Given the description of an element on the screen output the (x, y) to click on. 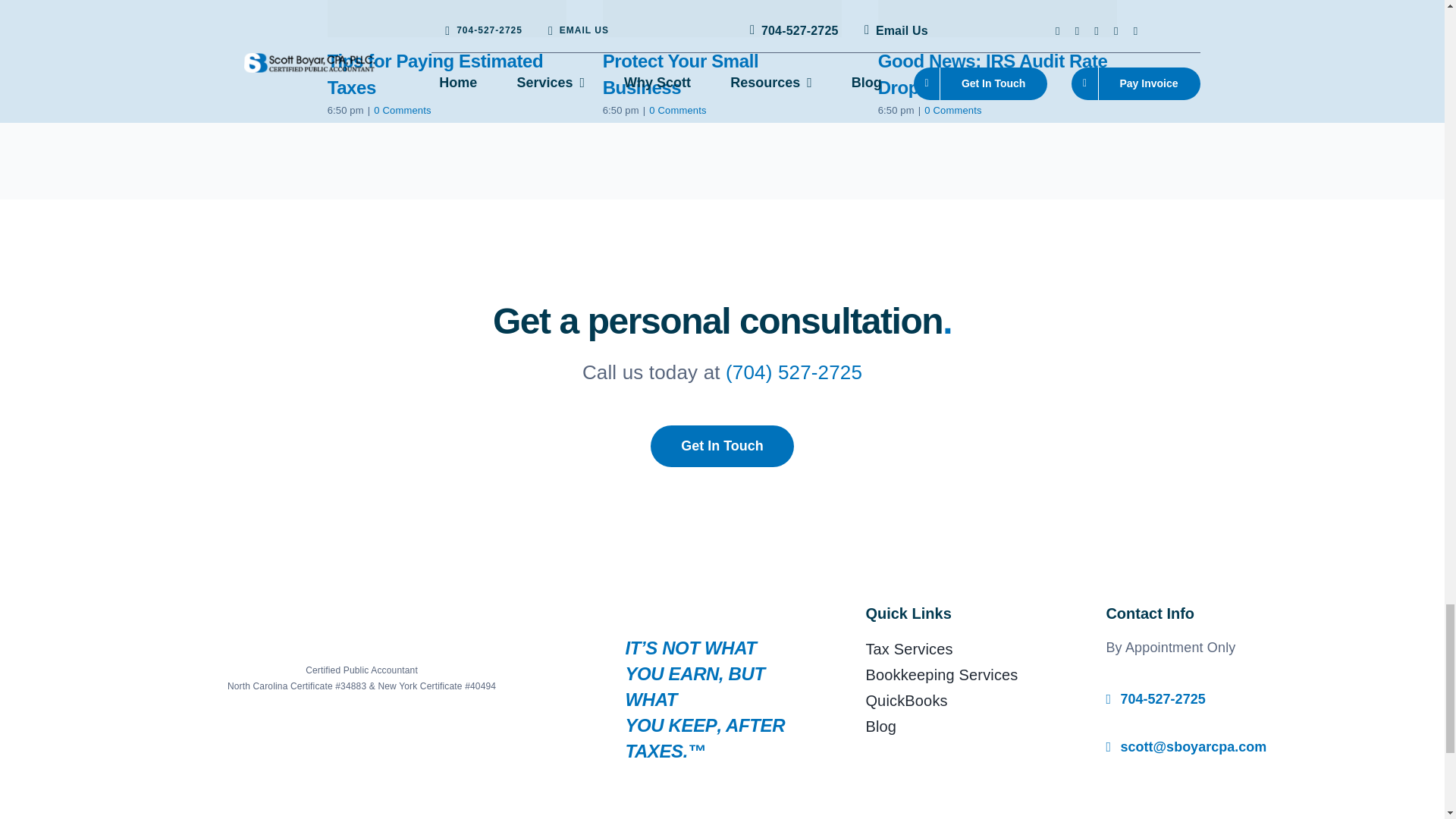
Protect Your Small Business (680, 73)
logos (361, 771)
Good News: IRS Audit Rate Drops (992, 73)
Tips for Paying Estimated Taxes (435, 73)
